Given the description of an element on the screen output the (x, y) to click on. 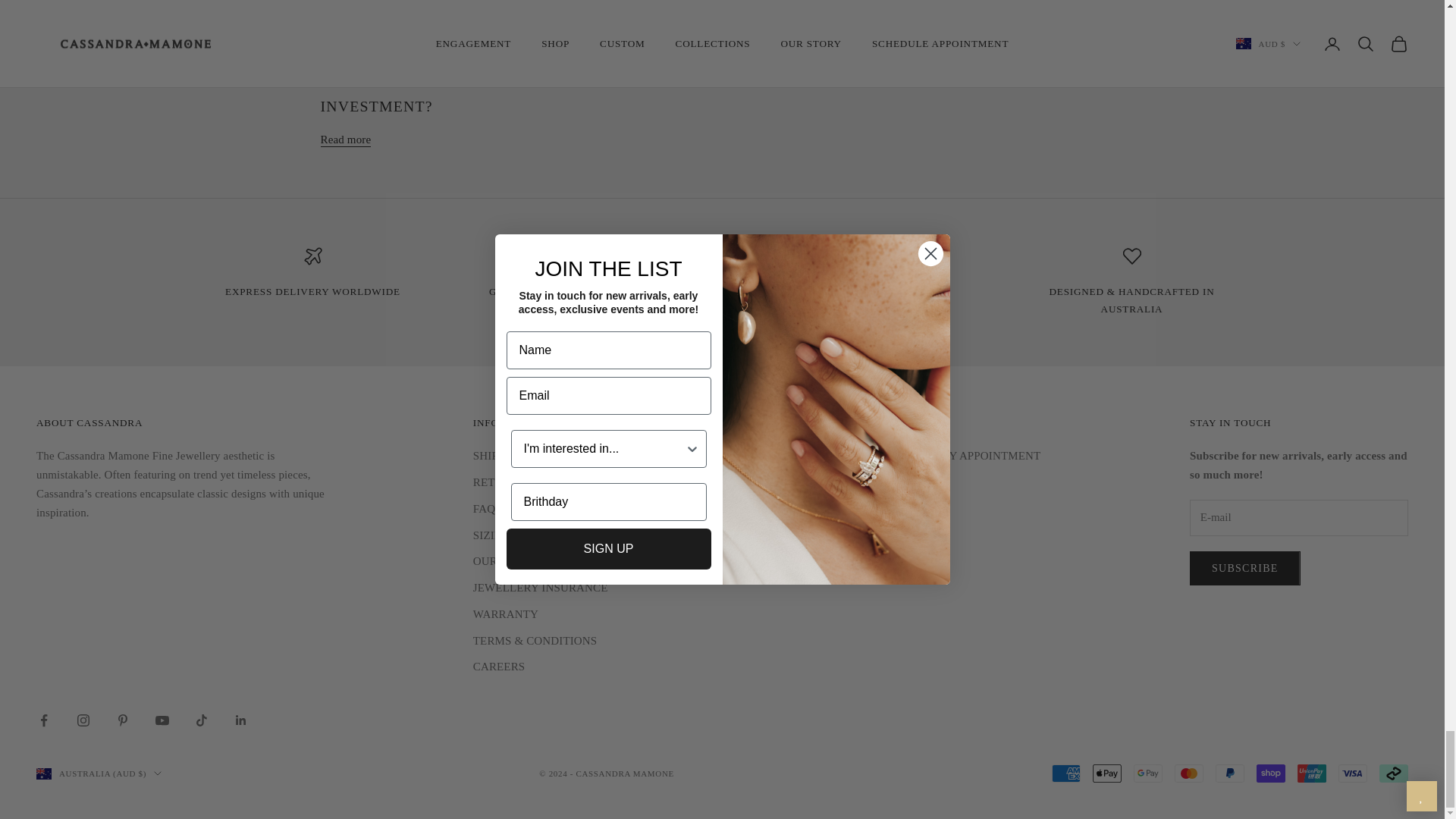
New Arrivals (312, 291)
OUR DIAMONDS (585, 291)
THE CUSTOM PROCESS (1131, 299)
